Given the description of an element on the screen output the (x, y) to click on. 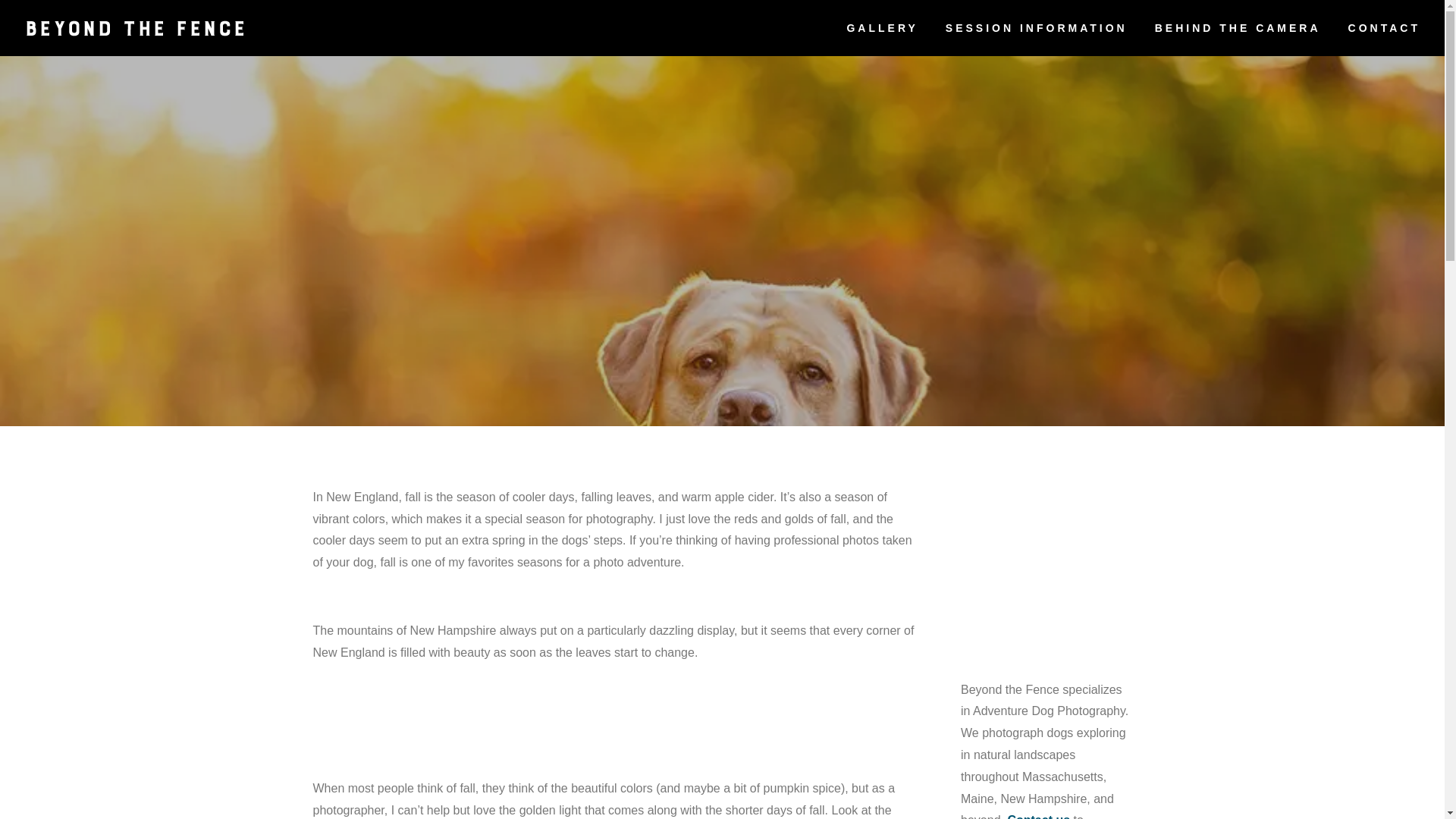
Contact us (1038, 816)
SESSION INFORMATION (1035, 39)
CONTACT (1384, 39)
GALLERY (881, 39)
BEHIND THE CAMERA (1237, 39)
